Given the description of an element on the screen output the (x, y) to click on. 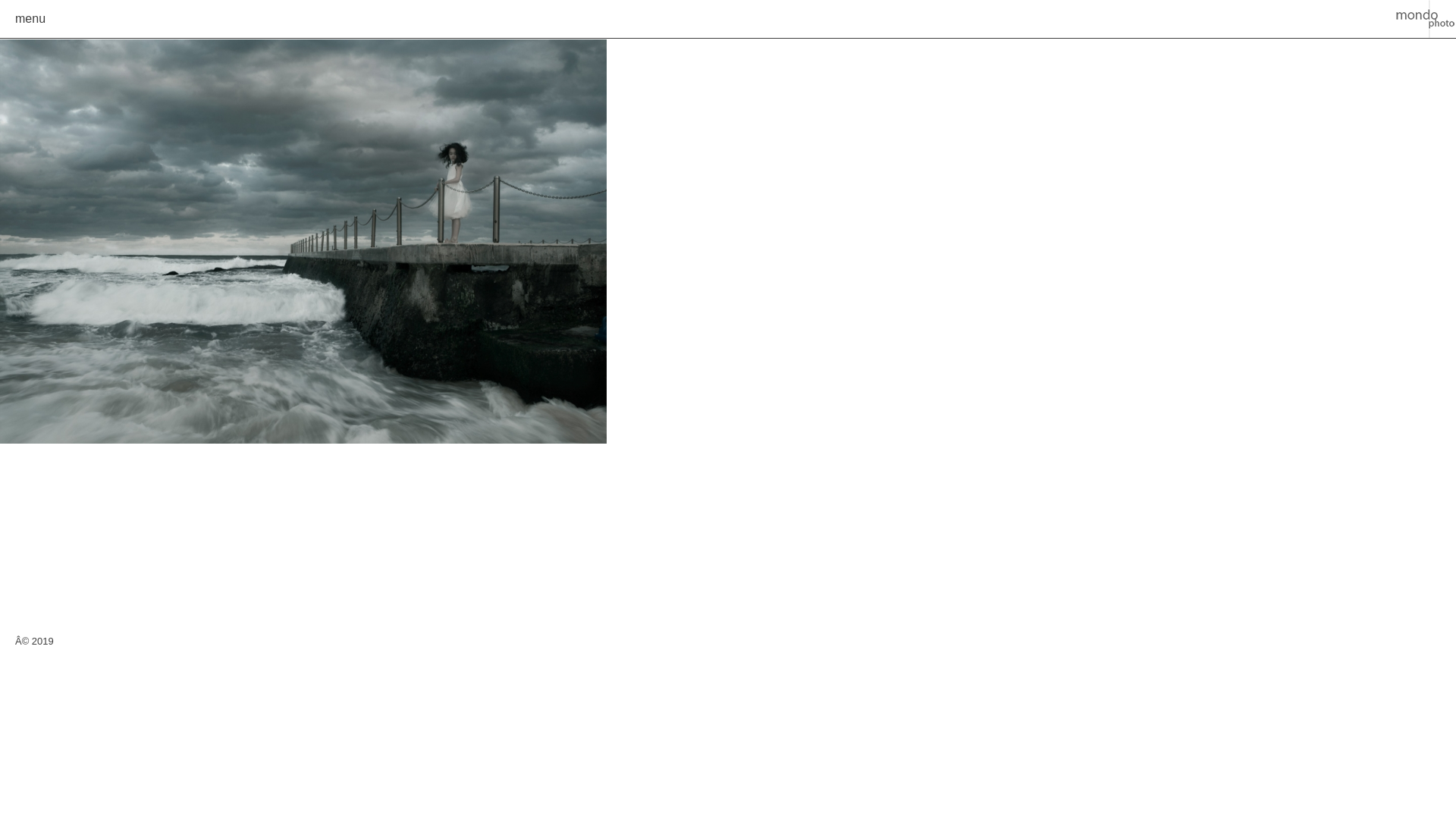
menu Element type: text (30, 18)
